Given the description of an element on the screen output the (x, y) to click on. 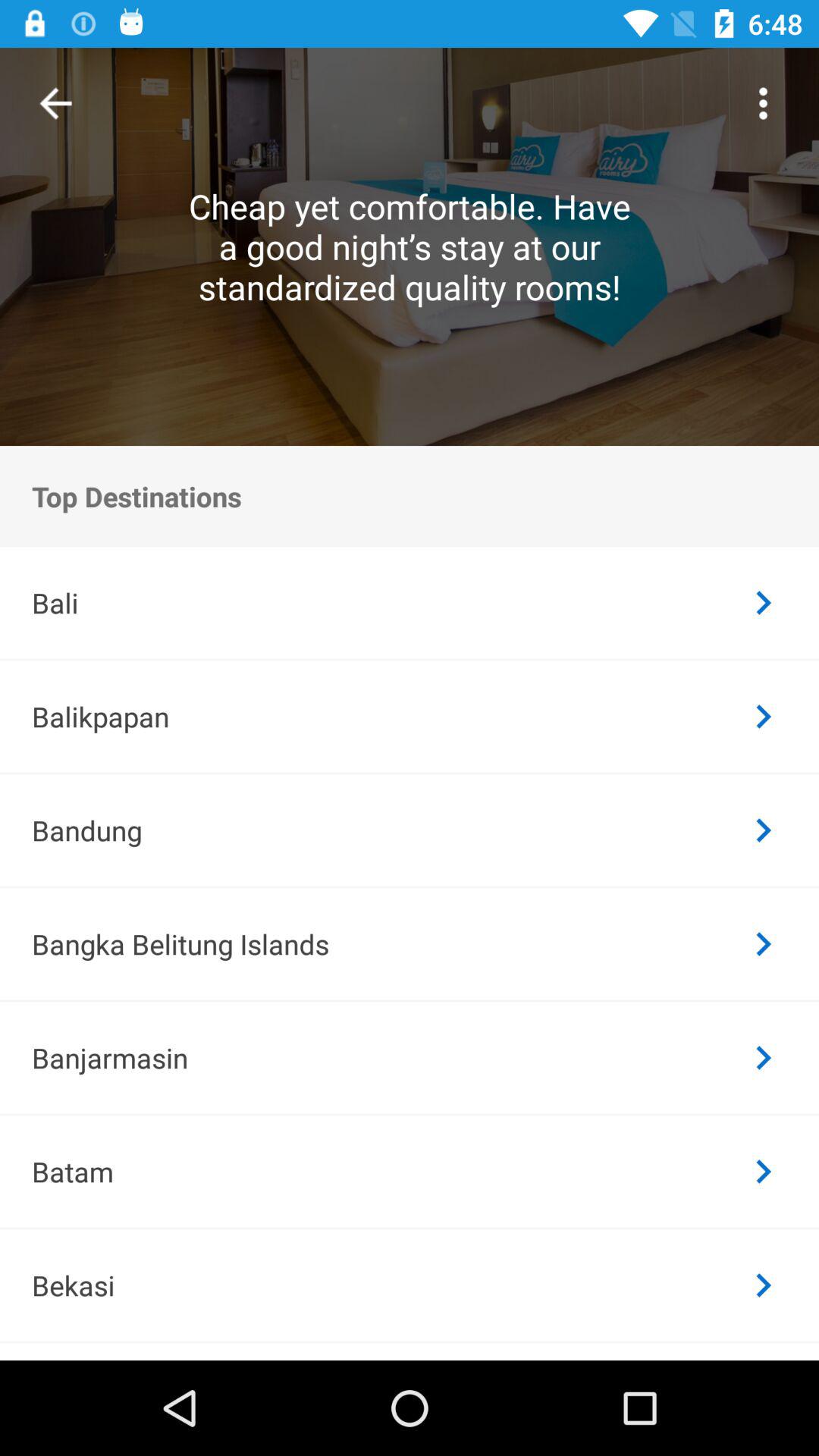
tap item above top destinations icon (55, 103)
